Given the description of an element on the screen output the (x, y) to click on. 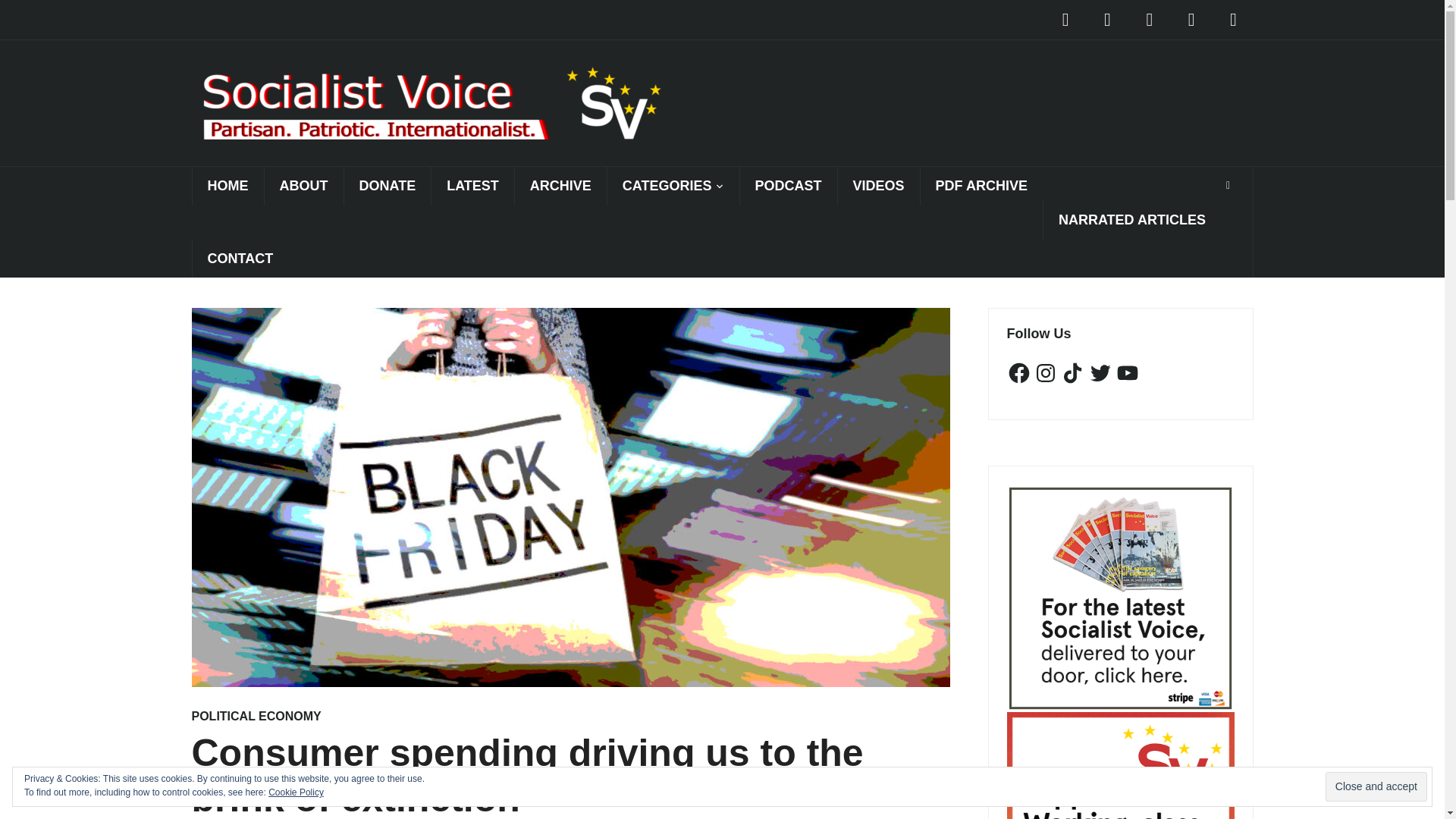
facebook (1064, 18)
ABOUT (303, 186)
Facebook (1064, 18)
Twitter (1191, 18)
Default Label (1107, 18)
tiktok (1149, 18)
Close and accept (1375, 786)
Search (1227, 185)
HOME (226, 186)
Default Label (1232, 18)
CATEGORIES (673, 186)
ARCHIVE (560, 186)
DONATE (386, 186)
youtube (1232, 18)
LATEST (471, 186)
